Given the description of an element on the screen output the (x, y) to click on. 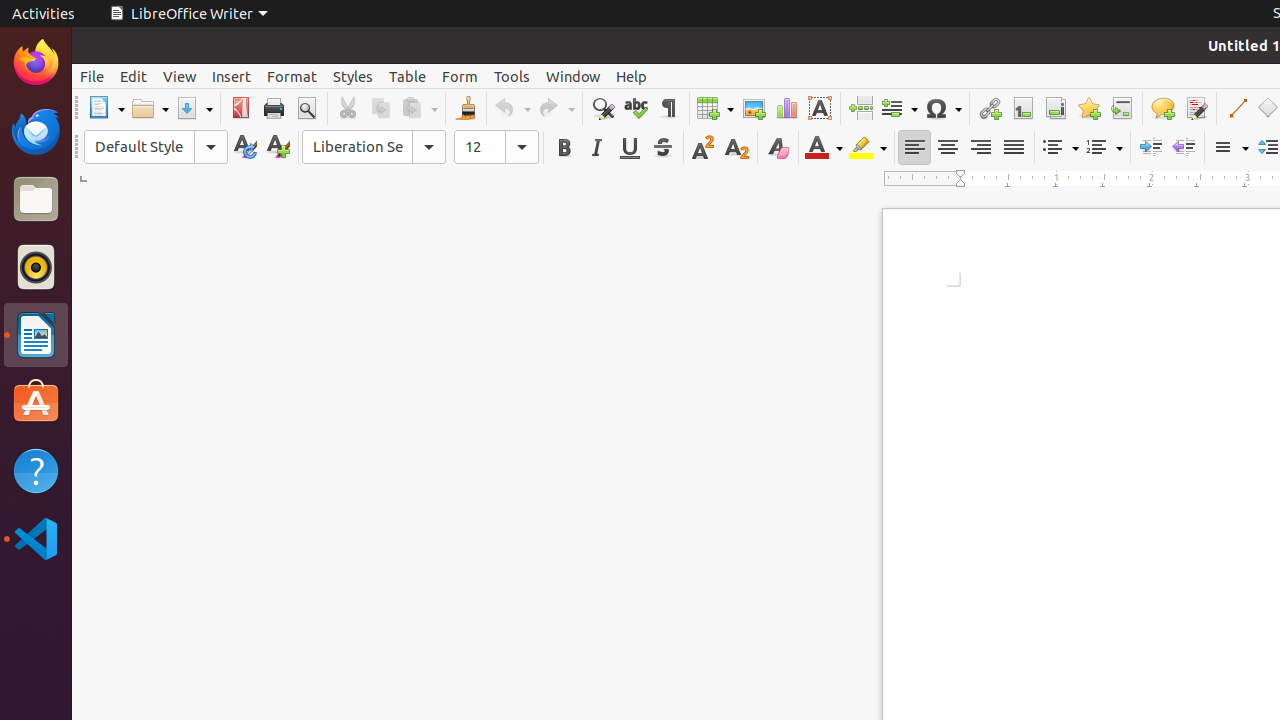
Print Element type: push-button (273, 108)
Open Element type: push-button (150, 108)
Left Element type: toggle-button (914, 147)
Symbol Element type: push-button (943, 108)
Font Name Element type: combo-box (374, 147)
